Given the description of an element on the screen output the (x, y) to click on. 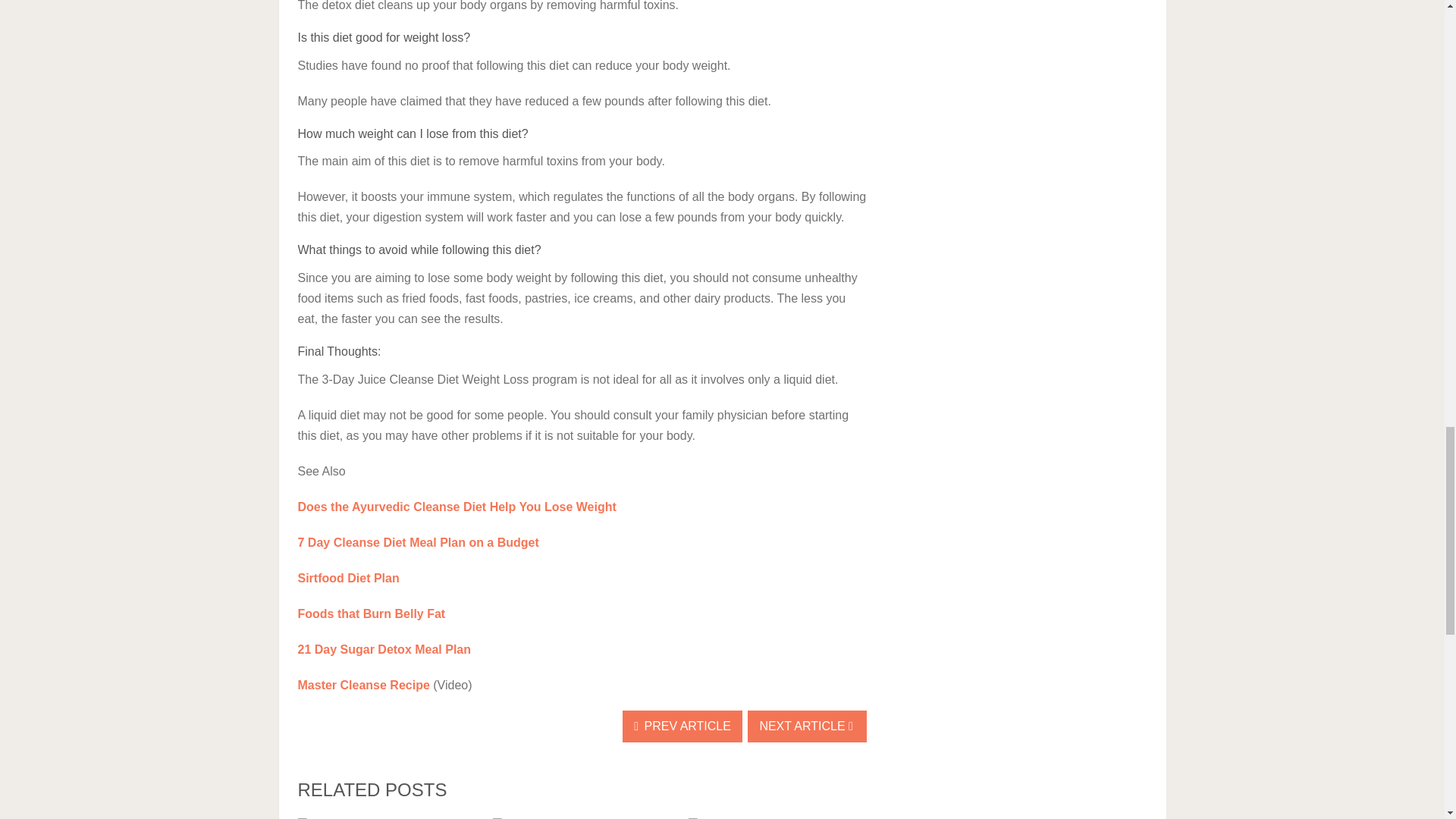
11 Foods that Burn Belly Fat (371, 613)
